Given the description of an element on the screen output the (x, y) to click on. 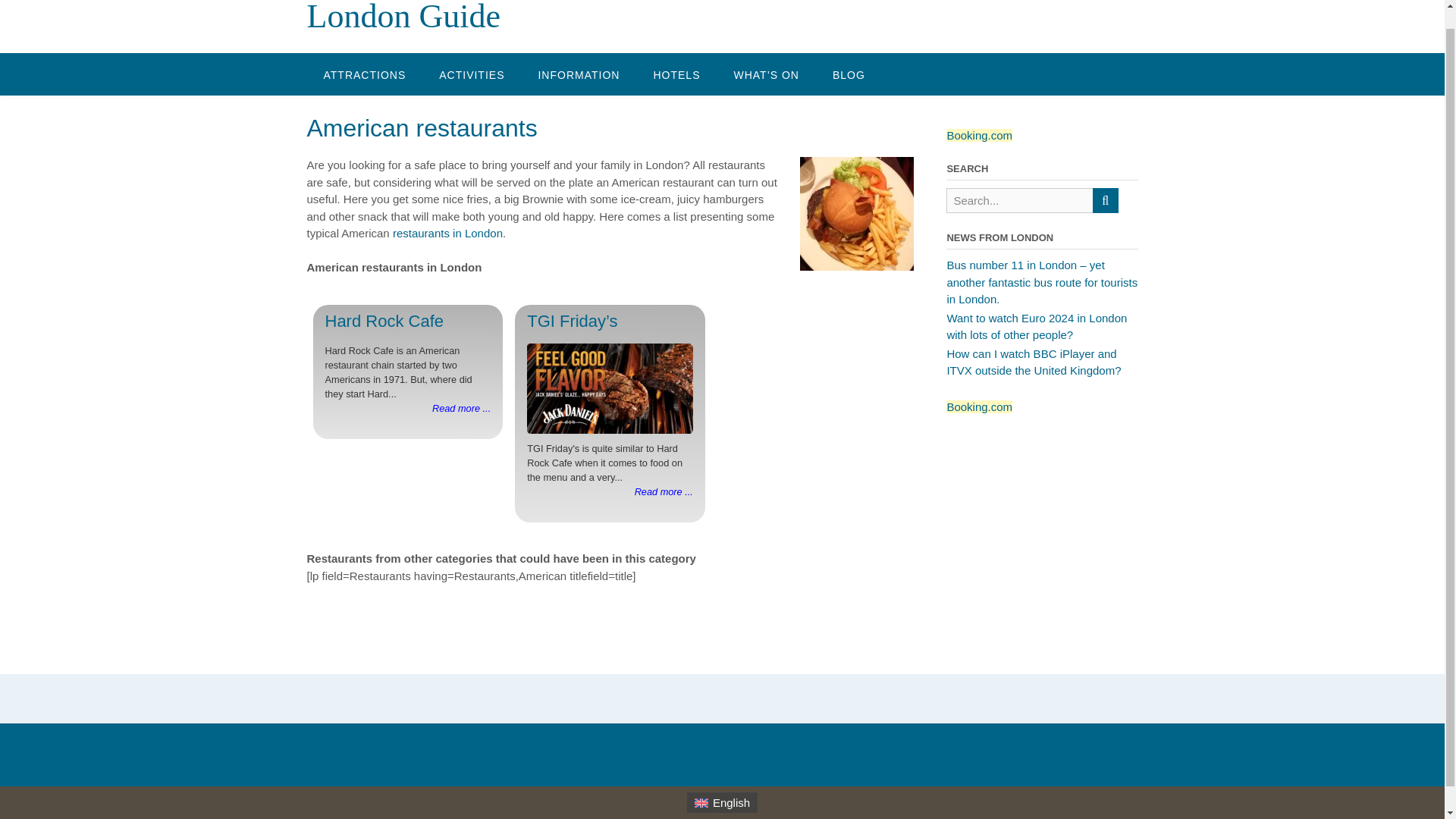
Read more ... (663, 491)
ATTRACTIONS (363, 73)
Search for: (1019, 200)
Read more ... (461, 408)
INFORMATION (578, 73)
London Guide (402, 17)
ACTIVITIES (471, 73)
London Guide (402, 17)
American Restaurants (856, 214)
